Given the description of an element on the screen output the (x, y) to click on. 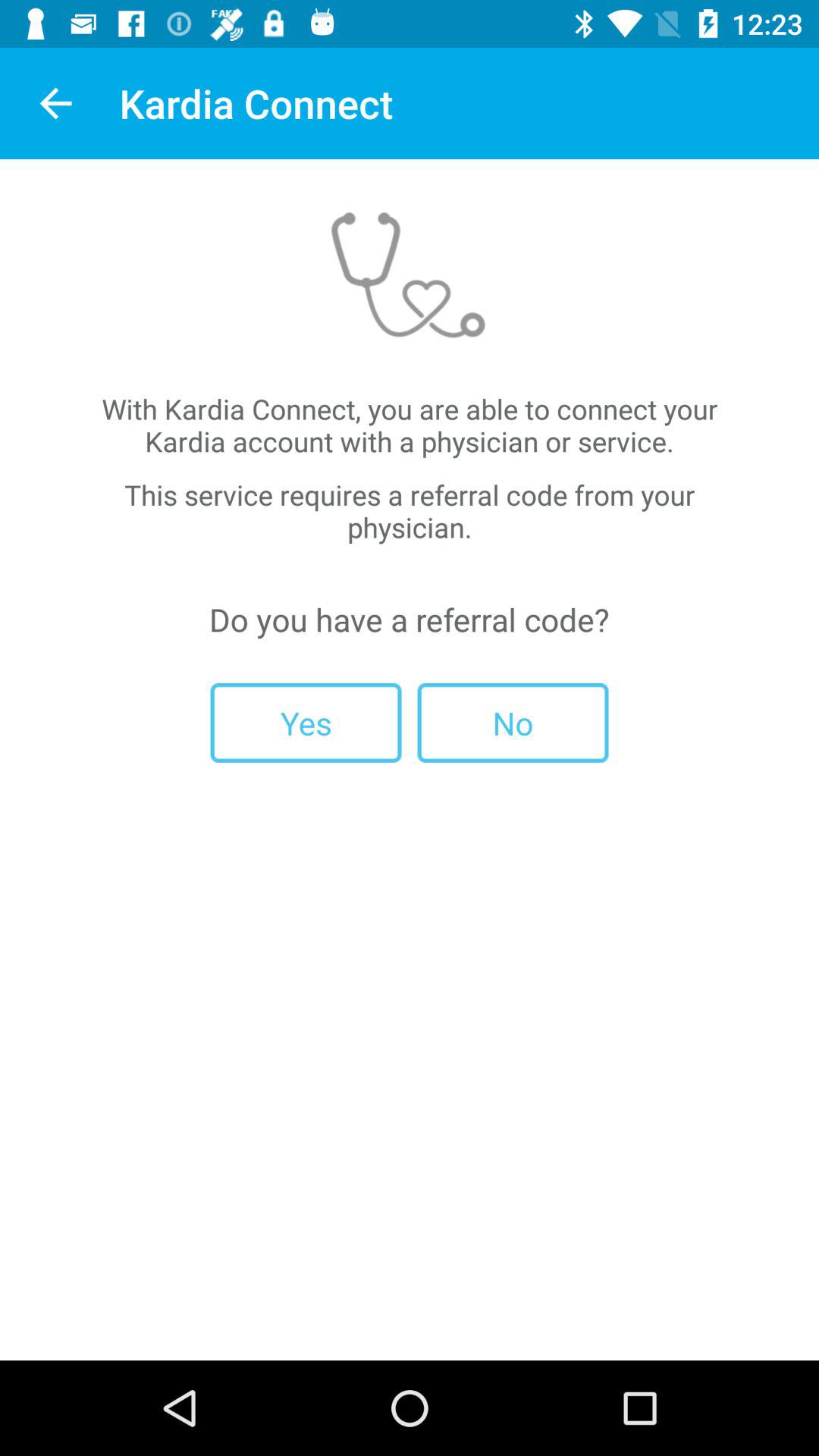
swipe to the yes item (305, 722)
